Given the description of an element on the screen output the (x, y) to click on. 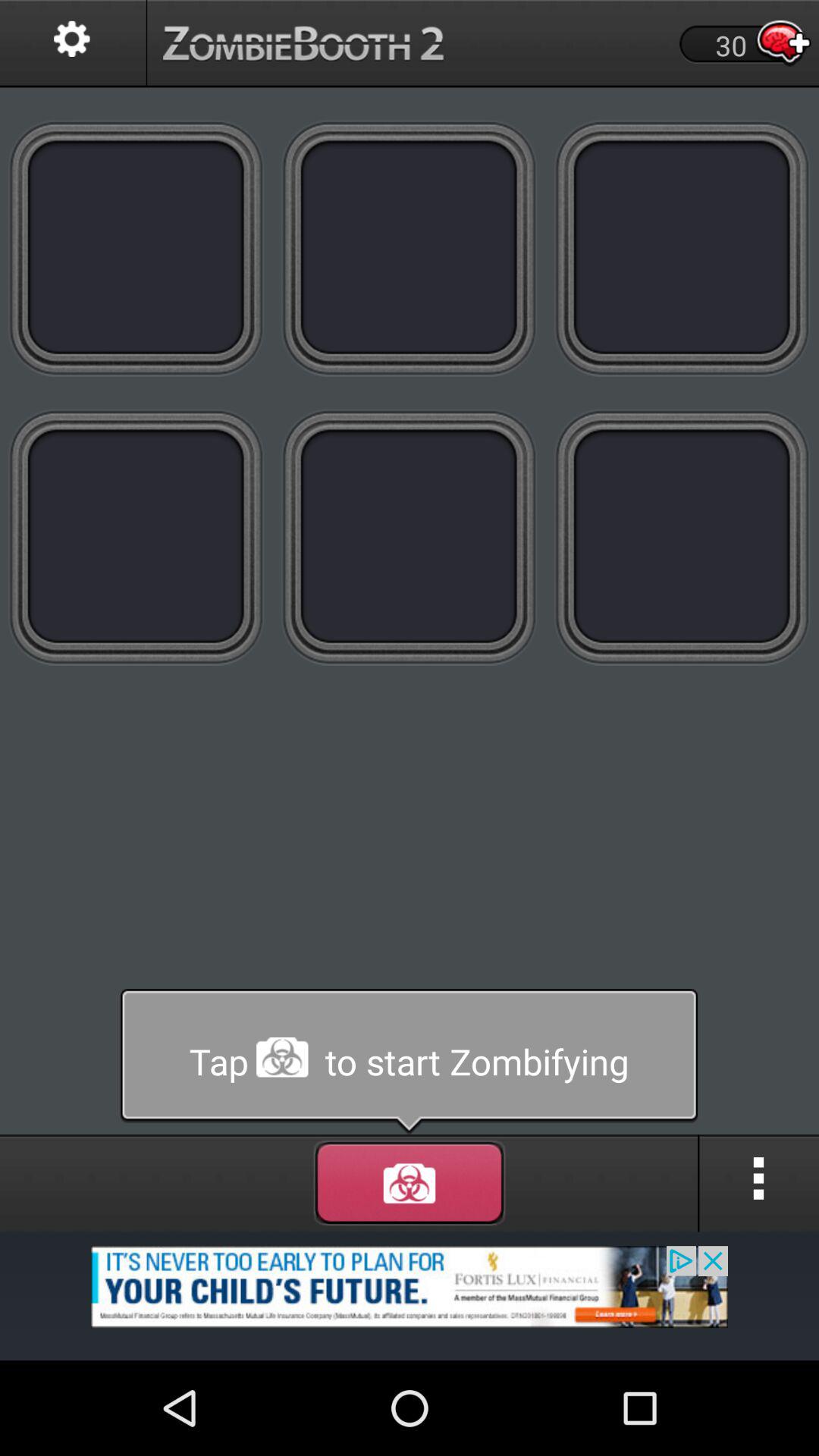
select first box (136, 247)
